Given the description of an element on the screen output the (x, y) to click on. 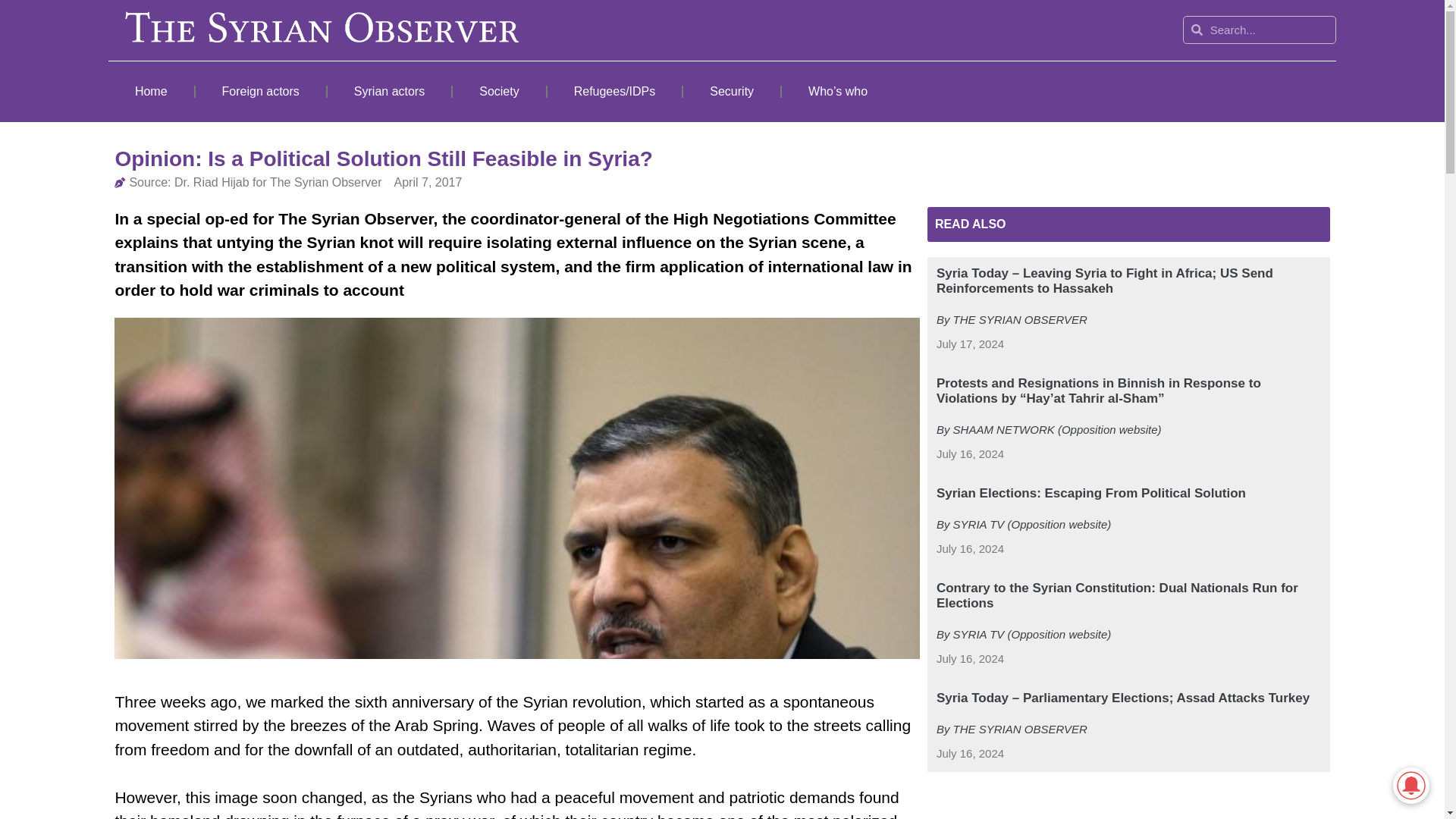
July 16, 2024 (970, 659)
Syrian Elections: Escaping From Political Solution (1091, 493)
July 16, 2024 (970, 454)
July 16, 2024 (970, 548)
Home (150, 91)
Security (731, 91)
Foreign actors (260, 91)
Syrian actors (389, 91)
July 17, 2024 (970, 343)
Society (498, 91)
July 16, 2024 (970, 753)
